Given the description of an element on the screen output the (x, y) to click on. 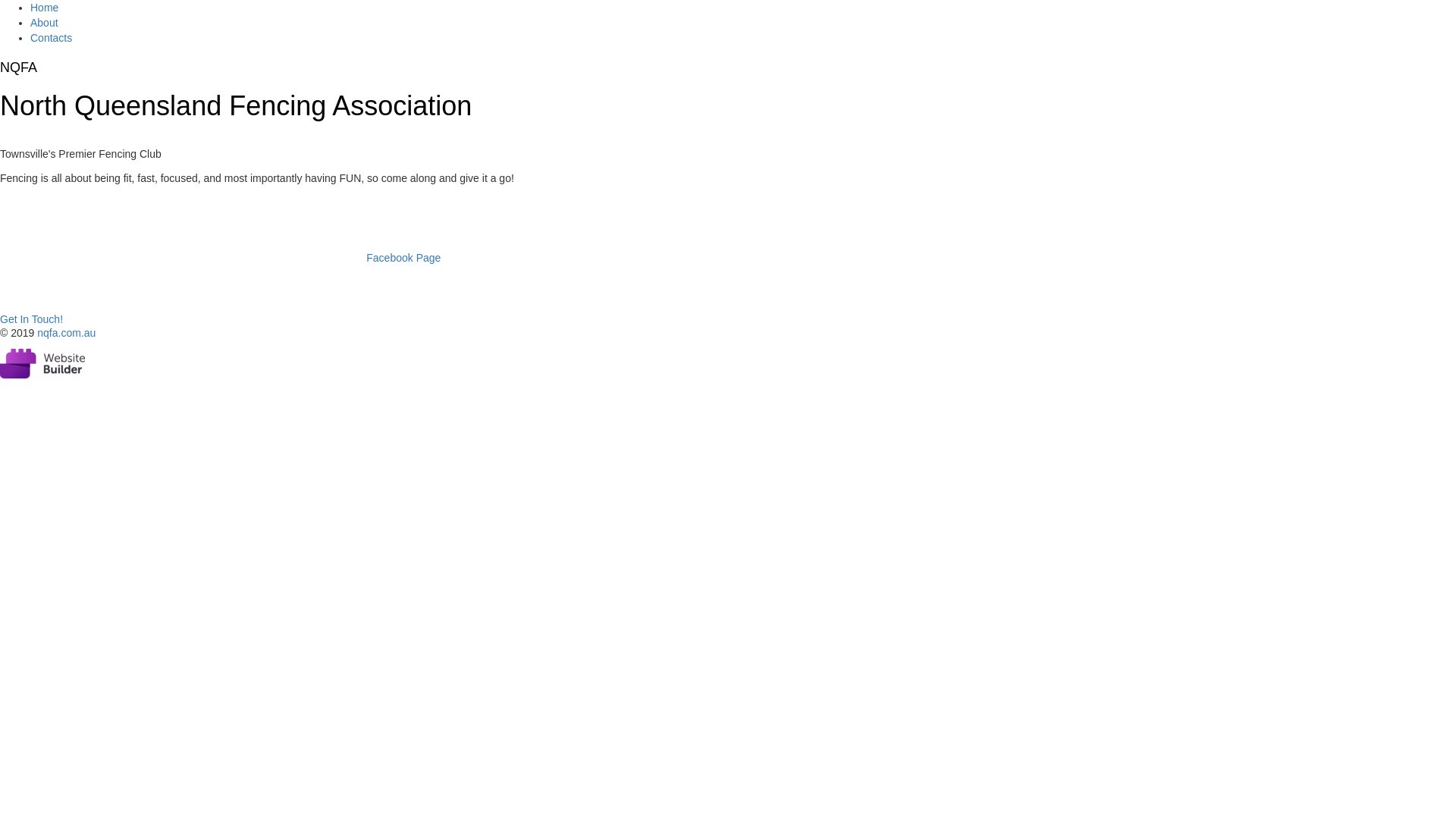
Facebook Page Element type: text (403, 257)
Get In Touch! Element type: text (31, 319)
Contacts Element type: text (51, 37)
Home Element type: text (44, 7)
What is Fencing? Element type: text (87, 231)
nqfa.com.au Element type: text (66, 332)
Learn to Fence Element type: text (76, 291)
About Element type: text (44, 22)
